Given the description of an element on the screen output the (x, y) to click on. 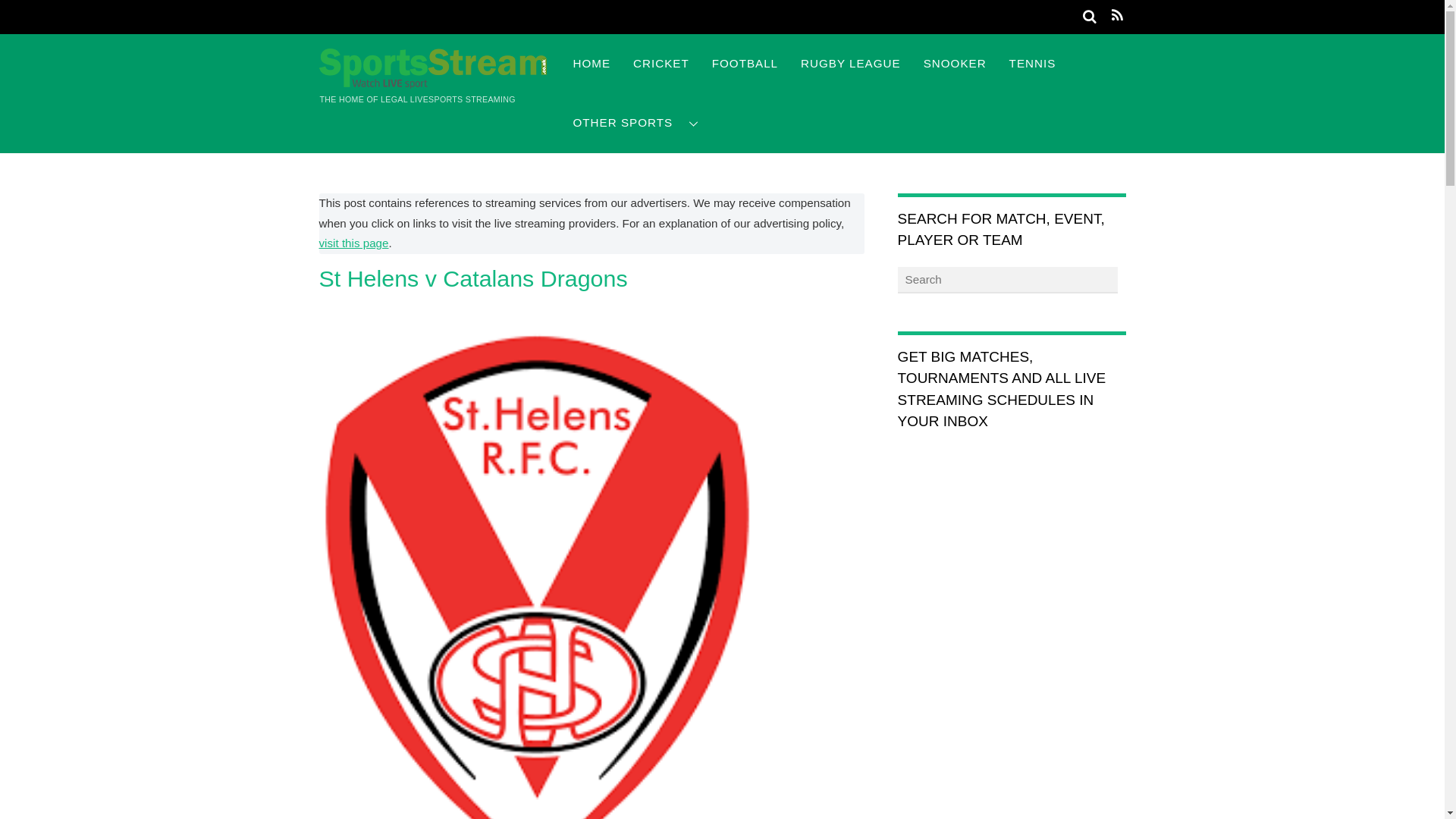
SNOOKER (954, 64)
CRICKET (660, 64)
HOME (590, 64)
visit this page (353, 242)
SportsStream- Legally Stream Sport (432, 80)
OTHER SPORTS (635, 123)
FOOTBALL (744, 64)
TENNIS (1032, 64)
RUGBY LEAGUE (850, 64)
